Given the description of an element on the screen output the (x, y) to click on. 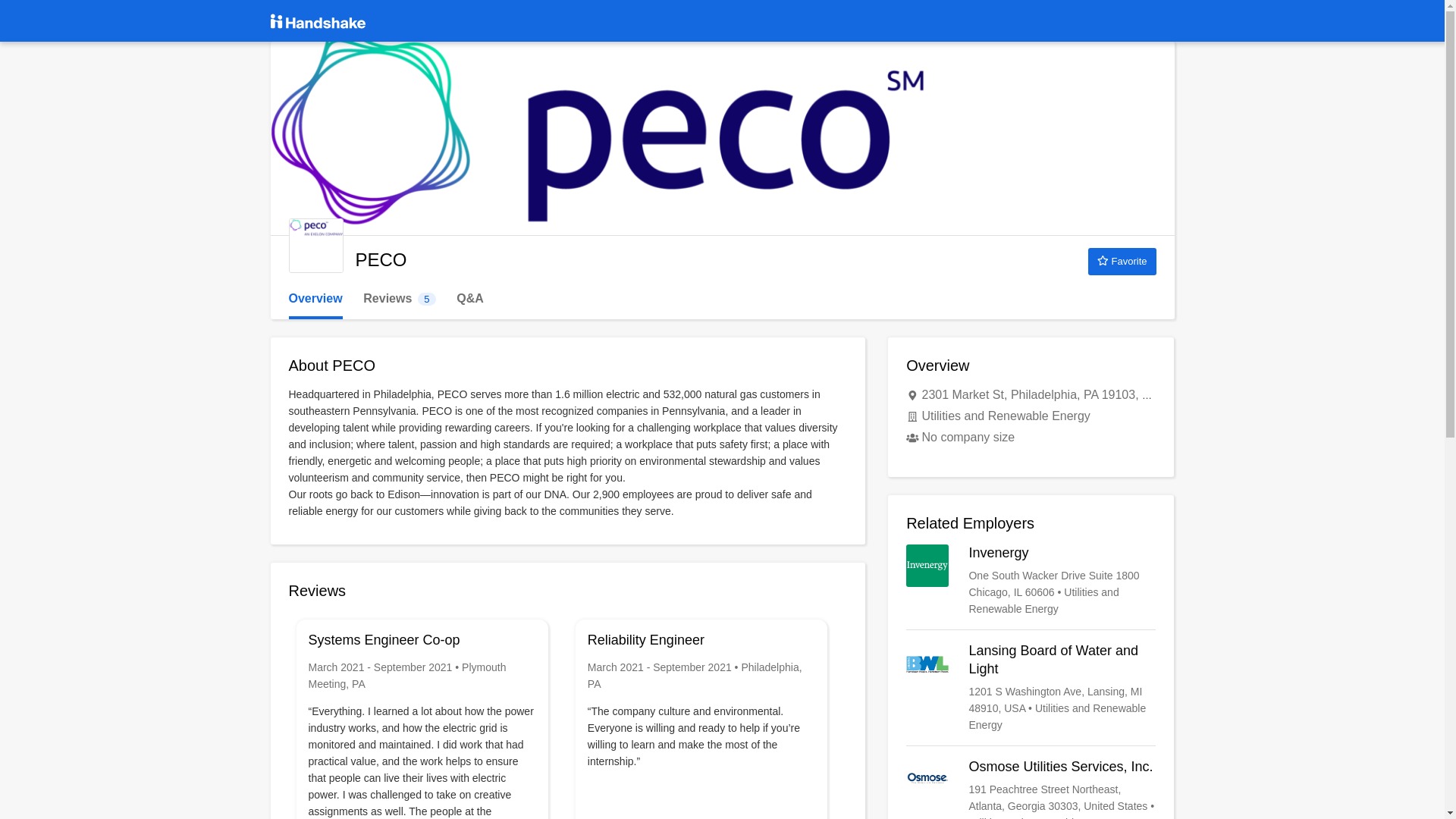
Osmose Utilities Services, Inc. (1030, 788)
PECO (315, 245)
Invenergy (1030, 580)
Favorite (398, 298)
Overview (1121, 261)
Lansing Board of Water and Light (315, 298)
